Given the description of an element on the screen output the (x, y) to click on. 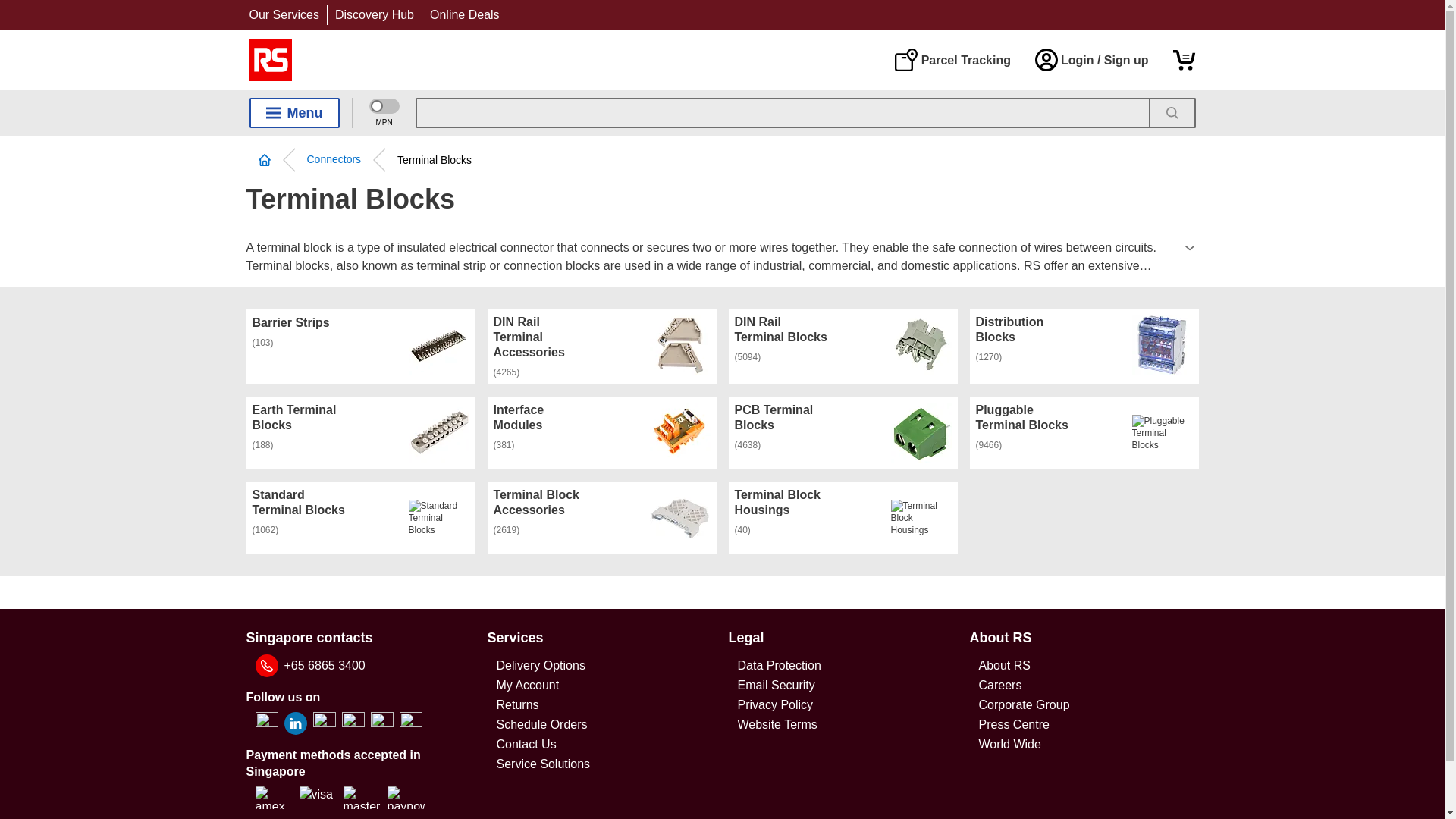
Online Deals (464, 14)
Our Services (283, 14)
Menu (293, 112)
Parcel Tracking (951, 59)
Discovery Hub (373, 14)
